Given the description of an element on the screen output the (x, y) to click on. 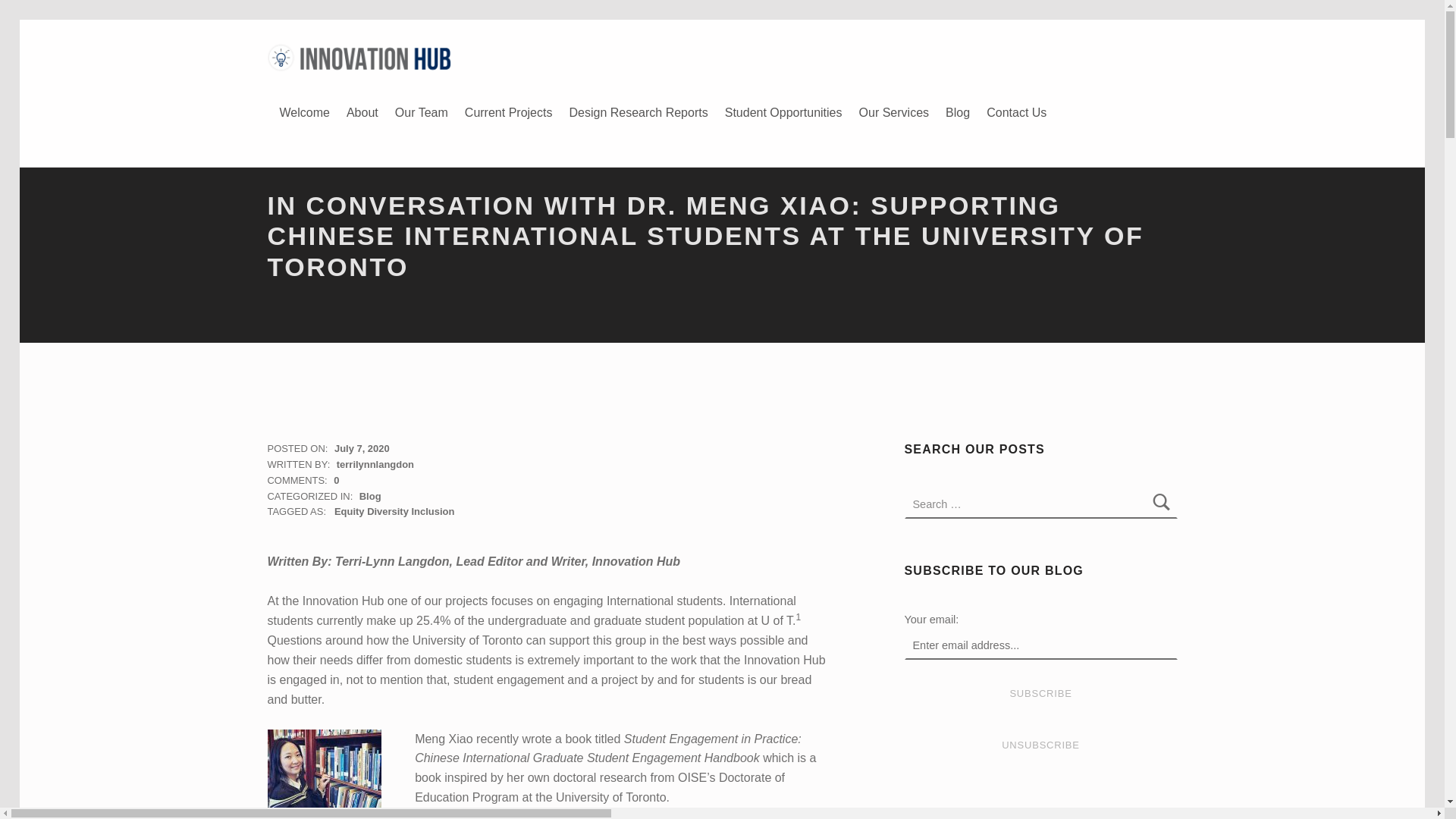
Comments: 0 (302, 480)
Search (1161, 503)
Our Team (421, 112)
Contact Us (1016, 112)
Equity Diversity Inclusion (394, 511)
Subscribe (1040, 694)
Our Services (893, 112)
Student Opportunities (783, 112)
Design Research Reports (637, 112)
Welcome (304, 112)
Subscribe (1040, 694)
Current Projects (508, 112)
About (362, 112)
COMMENTS: 0 (302, 480)
Unsubscribe (1040, 746)
